Given the description of an element on the screen output the (x, y) to click on. 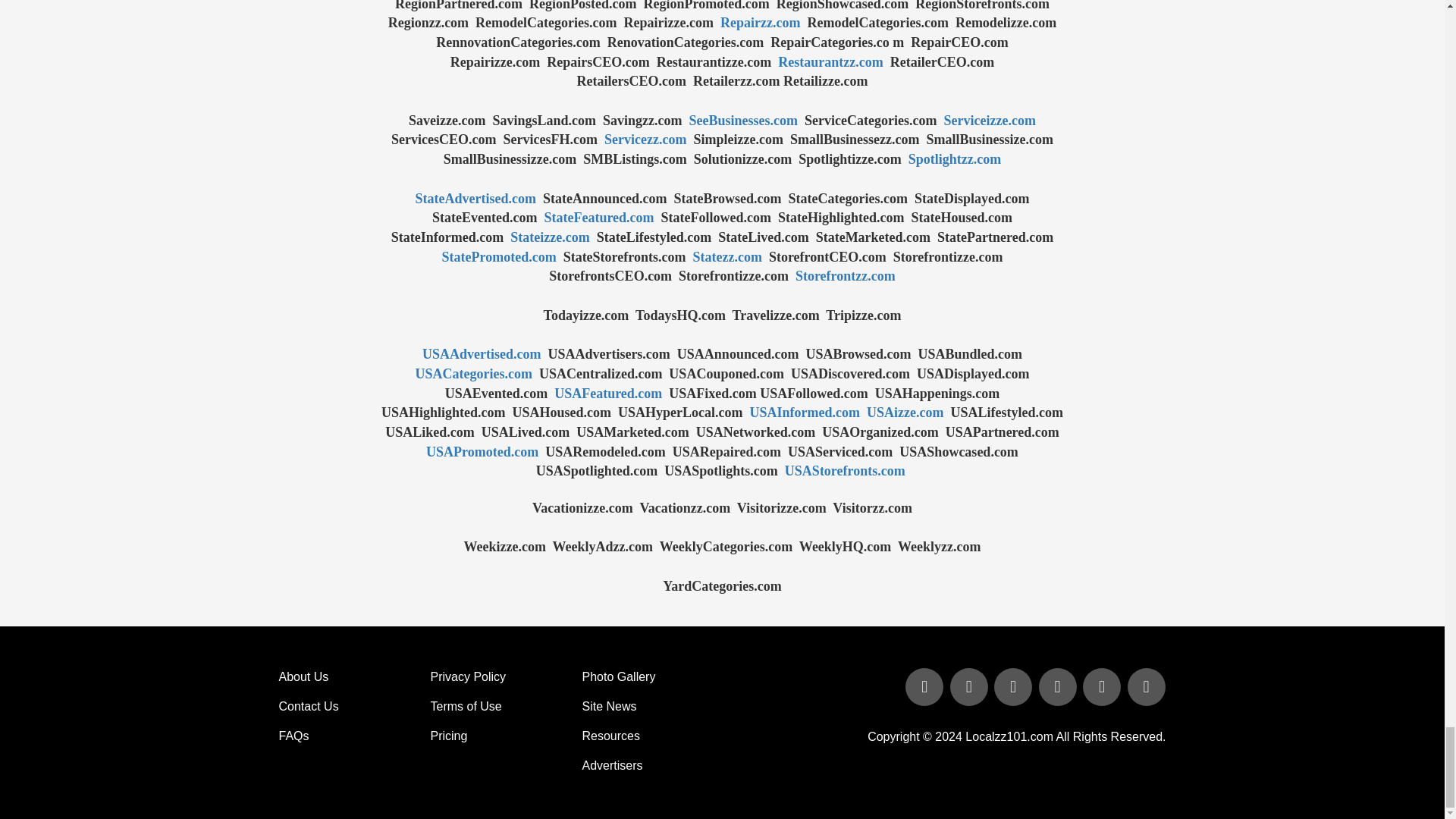
Follow Us on Instagram (1145, 687)
Follow Us on Pinterest (1103, 687)
Follow Us on Twitter (970, 687)
Follow Us on Linked In (1014, 687)
Follow Us on Facebook (925, 687)
Follow Us on You Tube (1058, 687)
